Given the description of an element on the screen output the (x, y) to click on. 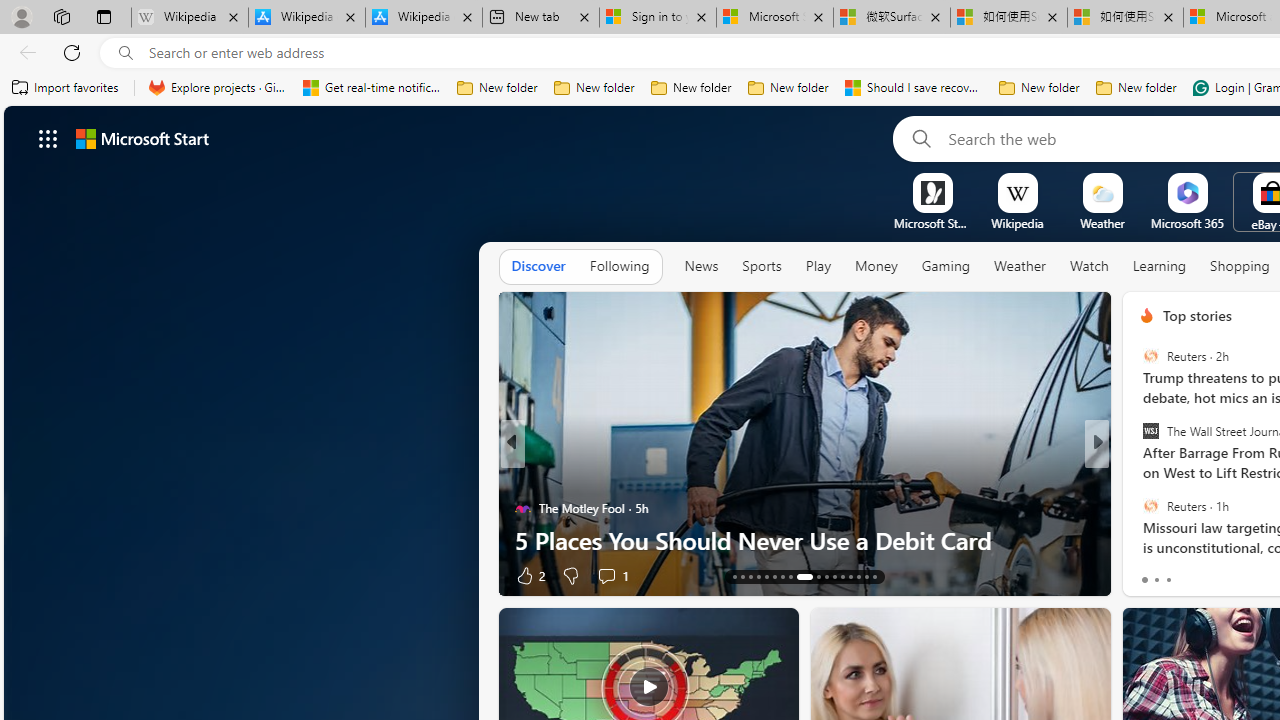
New folder (1136, 88)
Start the conversation (1222, 574)
Simply More Time (522, 475)
View comments 5 Comment (613, 575)
AutomationID: tab-16 (757, 576)
Ad (1142, 575)
AutomationID: tab-20 (789, 576)
Money (876, 267)
More Options (1219, 179)
AutomationID: tab-18 (774, 576)
